Given the description of an element on the screen output the (x, y) to click on. 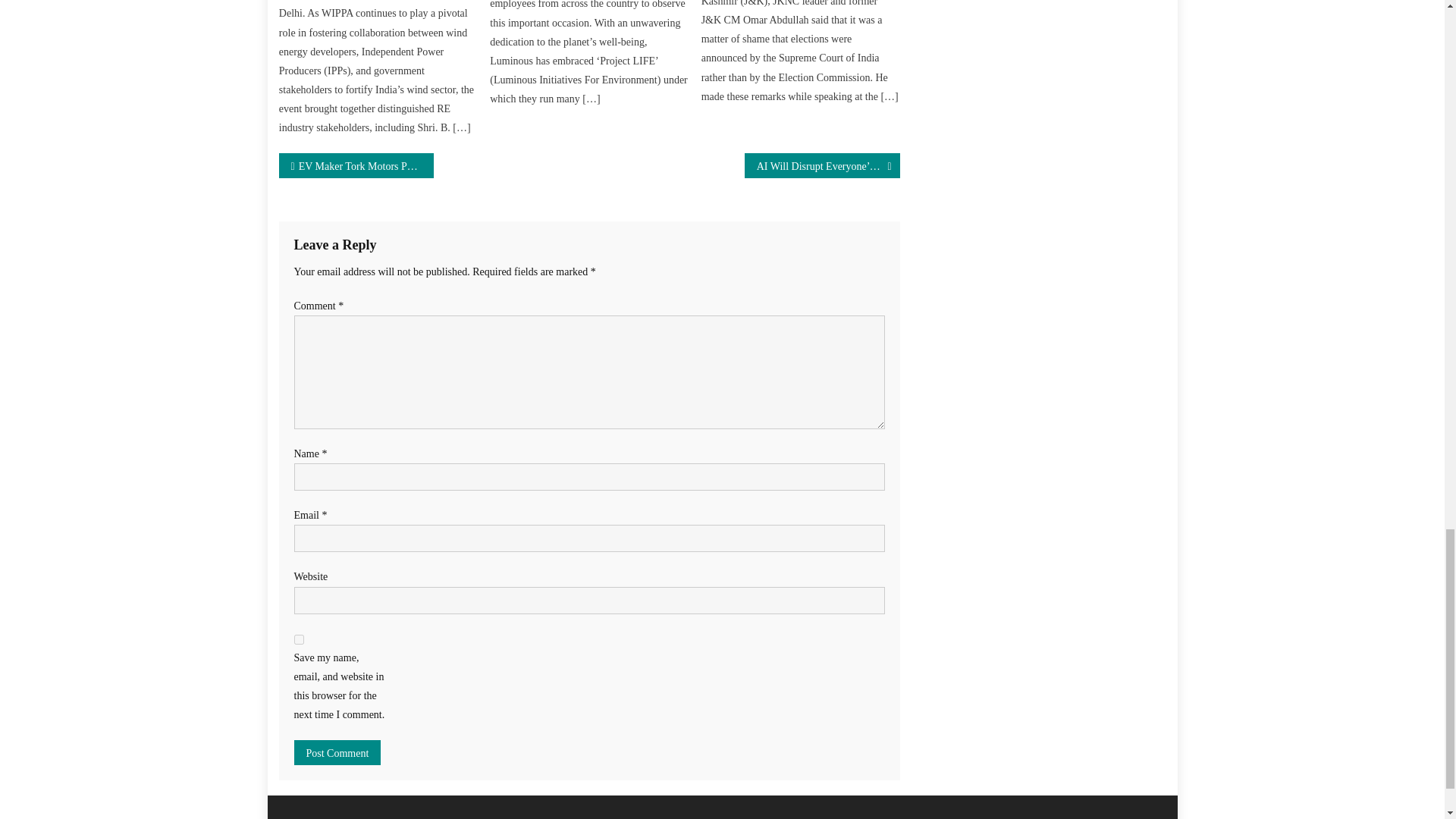
Post Comment (337, 752)
yes (299, 639)
